Given the description of an element on the screen output the (x, y) to click on. 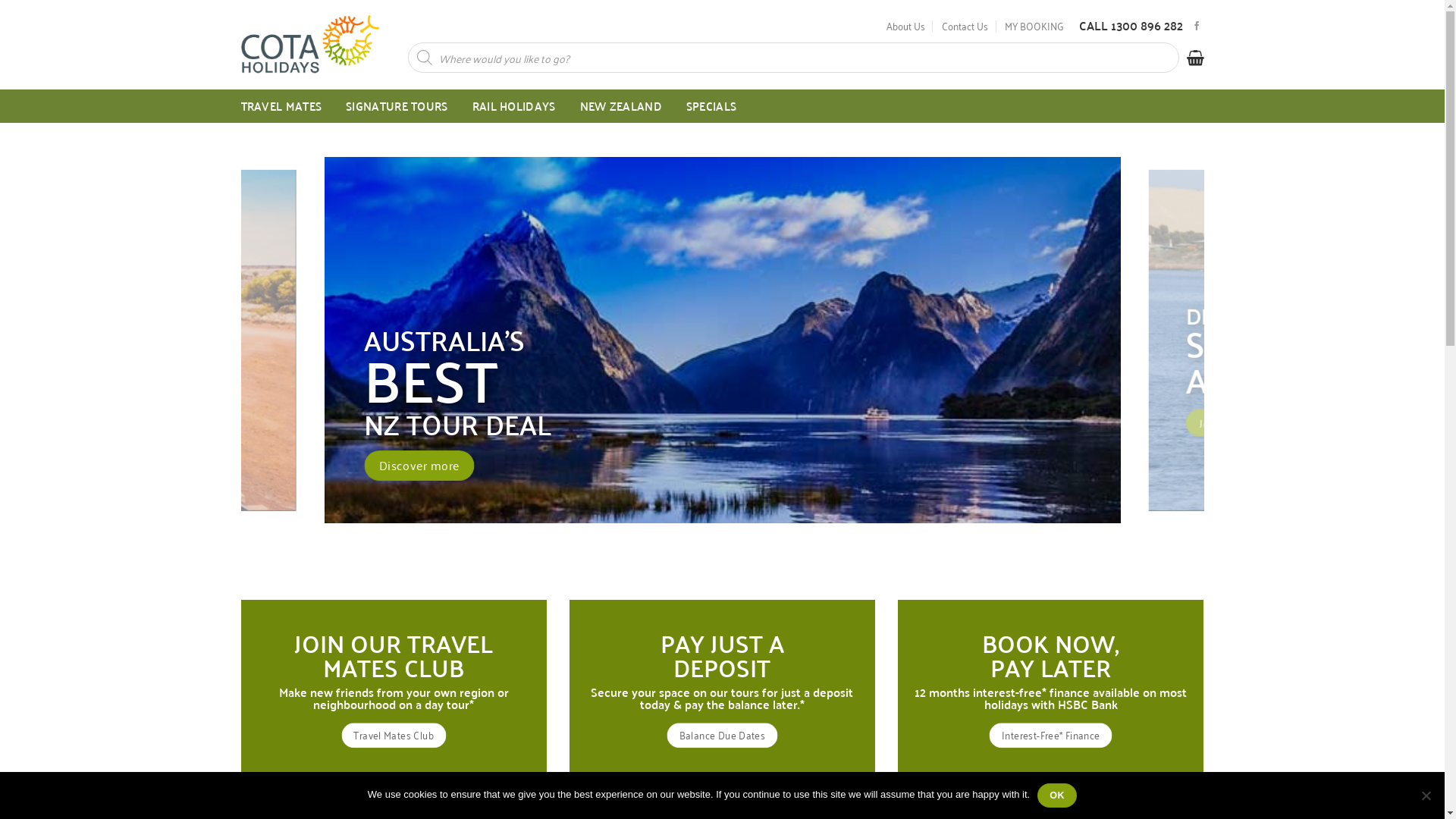
Travel Mates Club Element type: text (393, 734)
TRAVEL MATES Element type: text (281, 105)
RAIL HOLIDAYS Element type: text (513, 105)
MY BOOKING Element type: text (1033, 25)
Cart Element type: hover (1194, 57)
No Element type: hover (1425, 795)
NEW ZEALAND Element type: text (621, 105)
OK Element type: text (1056, 795)
Balance Due Dates Element type: text (721, 734)
Discover more Element type: text (782, 458)
Interest-Free* Finance Element type: text (1050, 734)
About Us Element type: text (905, 25)
SIGNATURE TOURS Element type: text (396, 105)
Contact Us Element type: text (964, 25)
COTA Holidays - Come gallivanting with us! Element type: hover (313, 45)
SPECIALS Element type: text (711, 105)
